Given the description of an element on the screen output the (x, y) to click on. 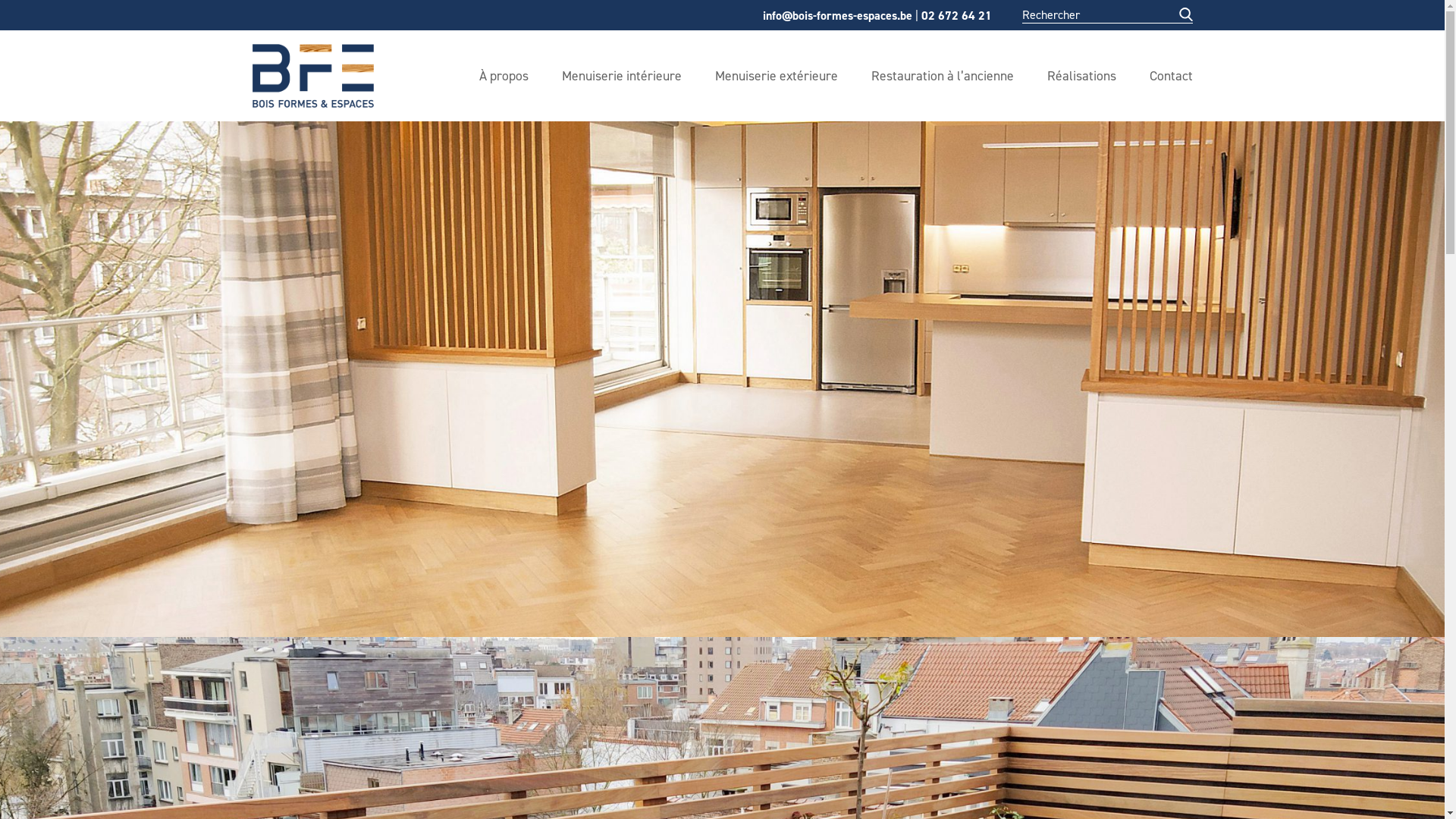
02 672 64 21 Element type: text (955, 15)
info@bois-formes-espaces.be Element type: text (837, 15)
Contact Element type: text (1170, 75)
